Given the description of an element on the screen output the (x, y) to click on. 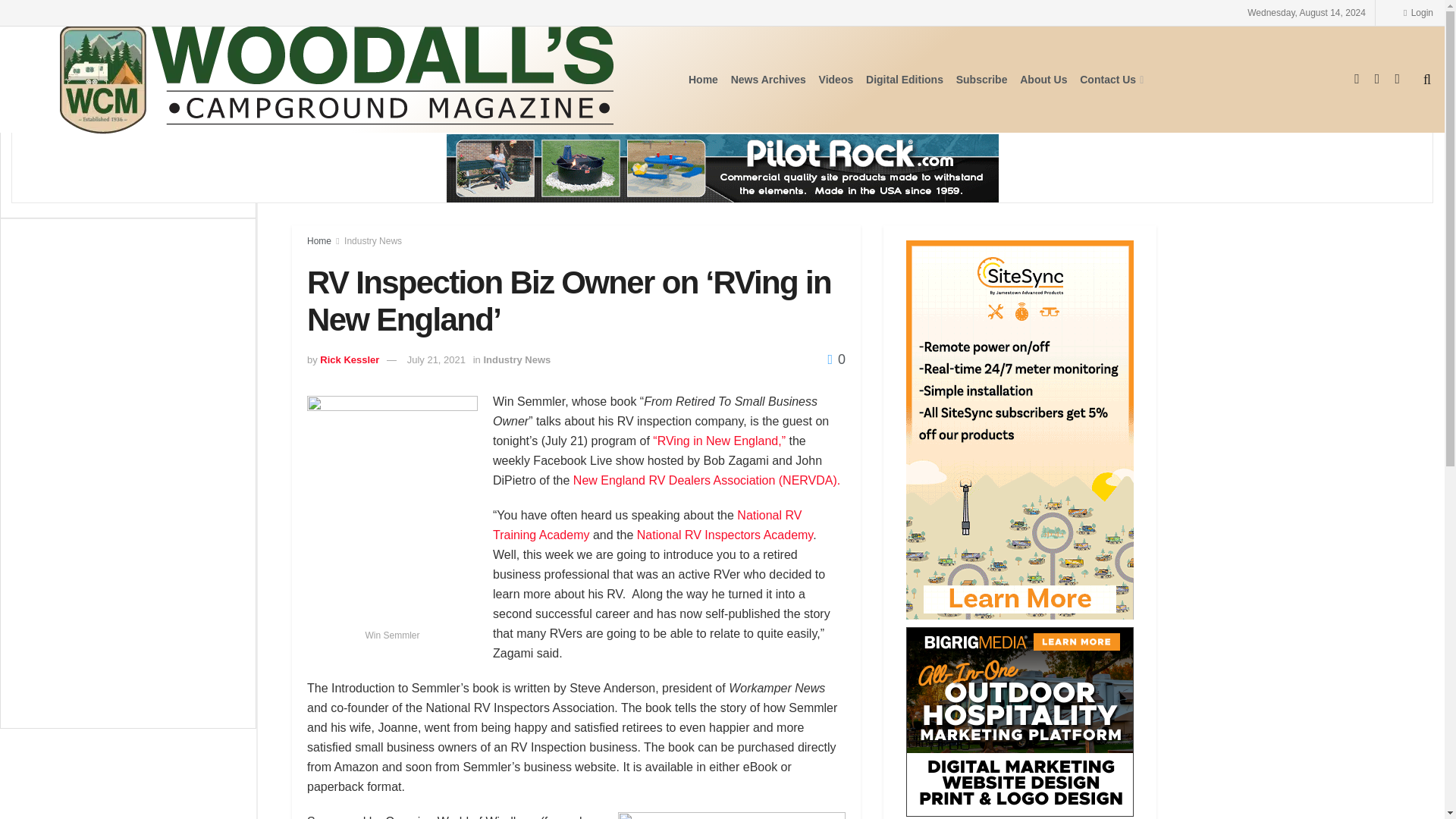
Digital Editions (904, 79)
Videos (835, 79)
Contact Us (1110, 79)
Login (1417, 12)
Subscribe (981, 79)
About Us (1043, 79)
News Archives (768, 79)
